Given the description of an element on the screen output the (x, y) to click on. 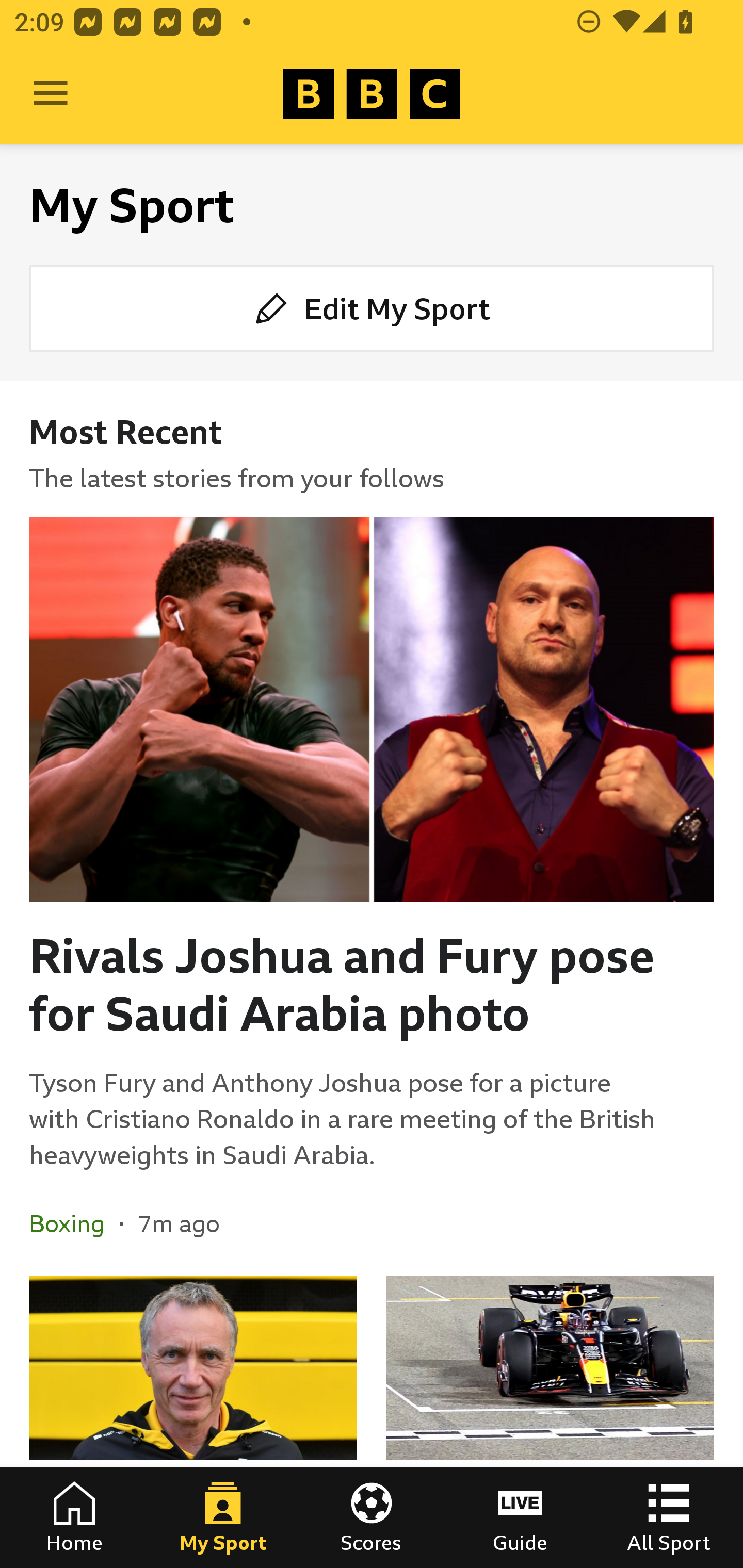
Open Menu (50, 93)
Edit My Sport (371, 307)
Engineer Bell leaves struggling Alpine (192, 1421)
Home (74, 1517)
Scores (371, 1517)
Guide (519, 1517)
All Sport (668, 1517)
